Given the description of an element on the screen output the (x, y) to click on. 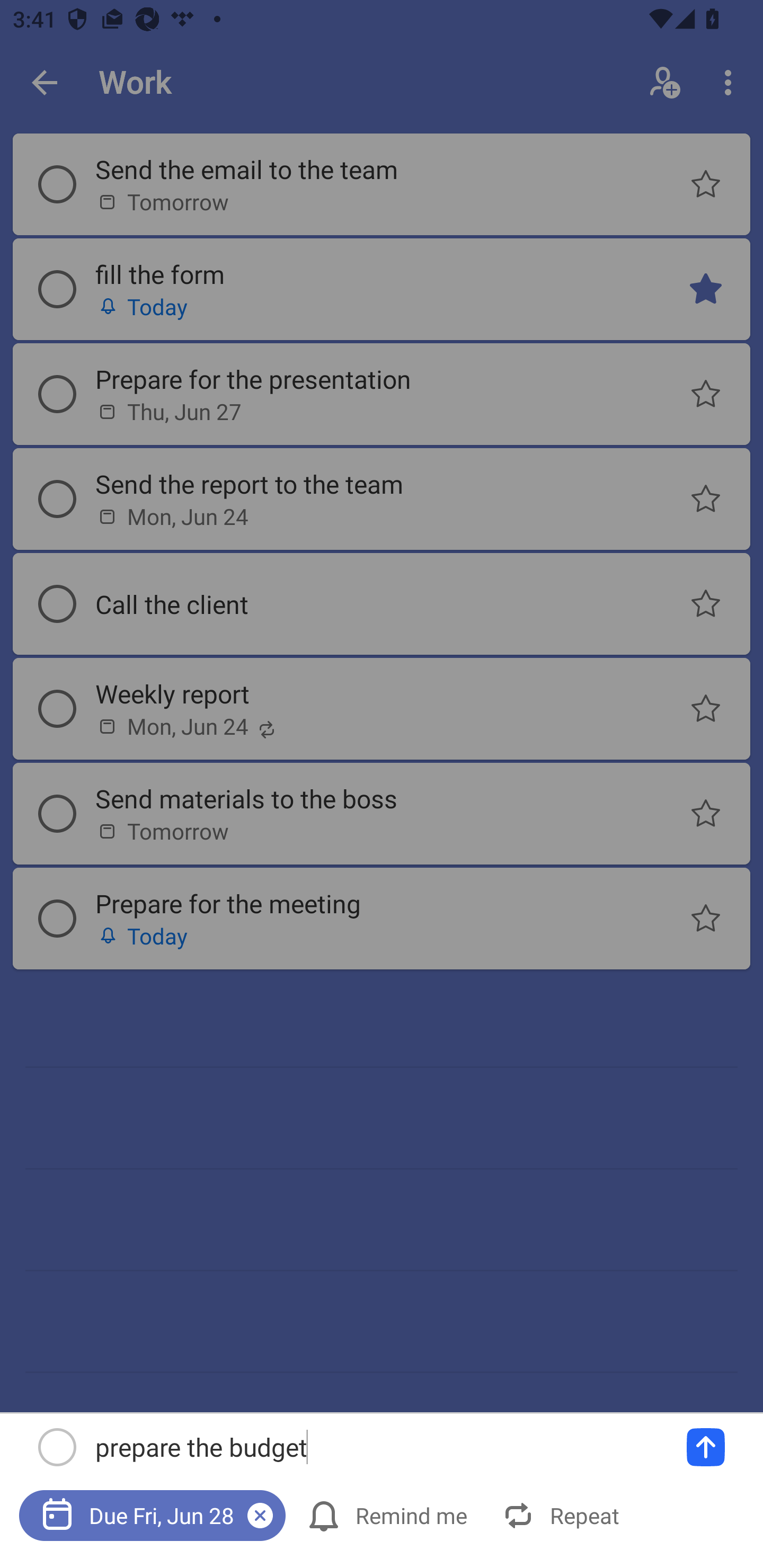
Remind me (388, 1515)
